Given the description of an element on the screen output the (x, y) to click on. 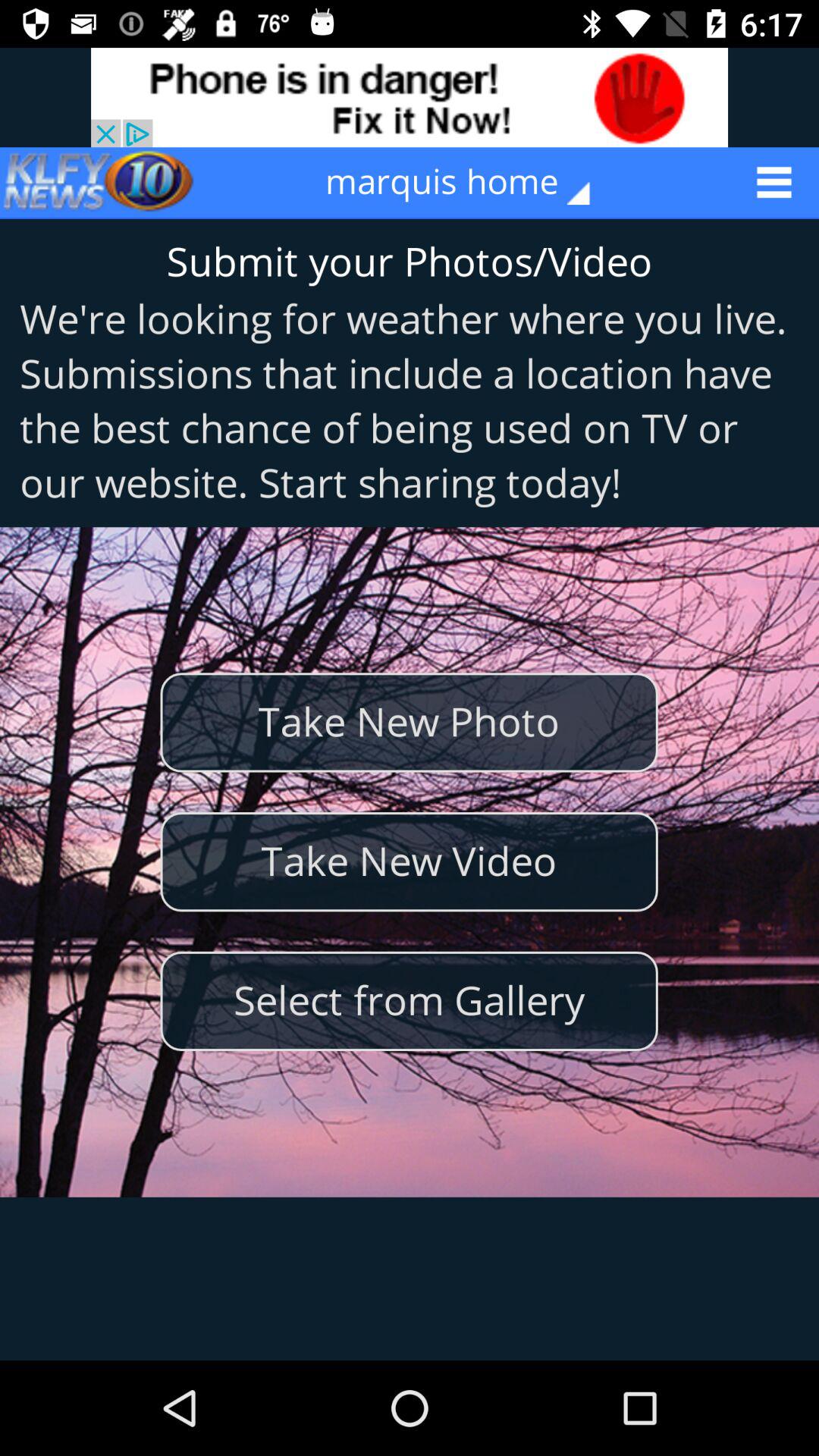
tap the marquis home icon (468, 182)
